Given the description of an element on the screen output the (x, y) to click on. 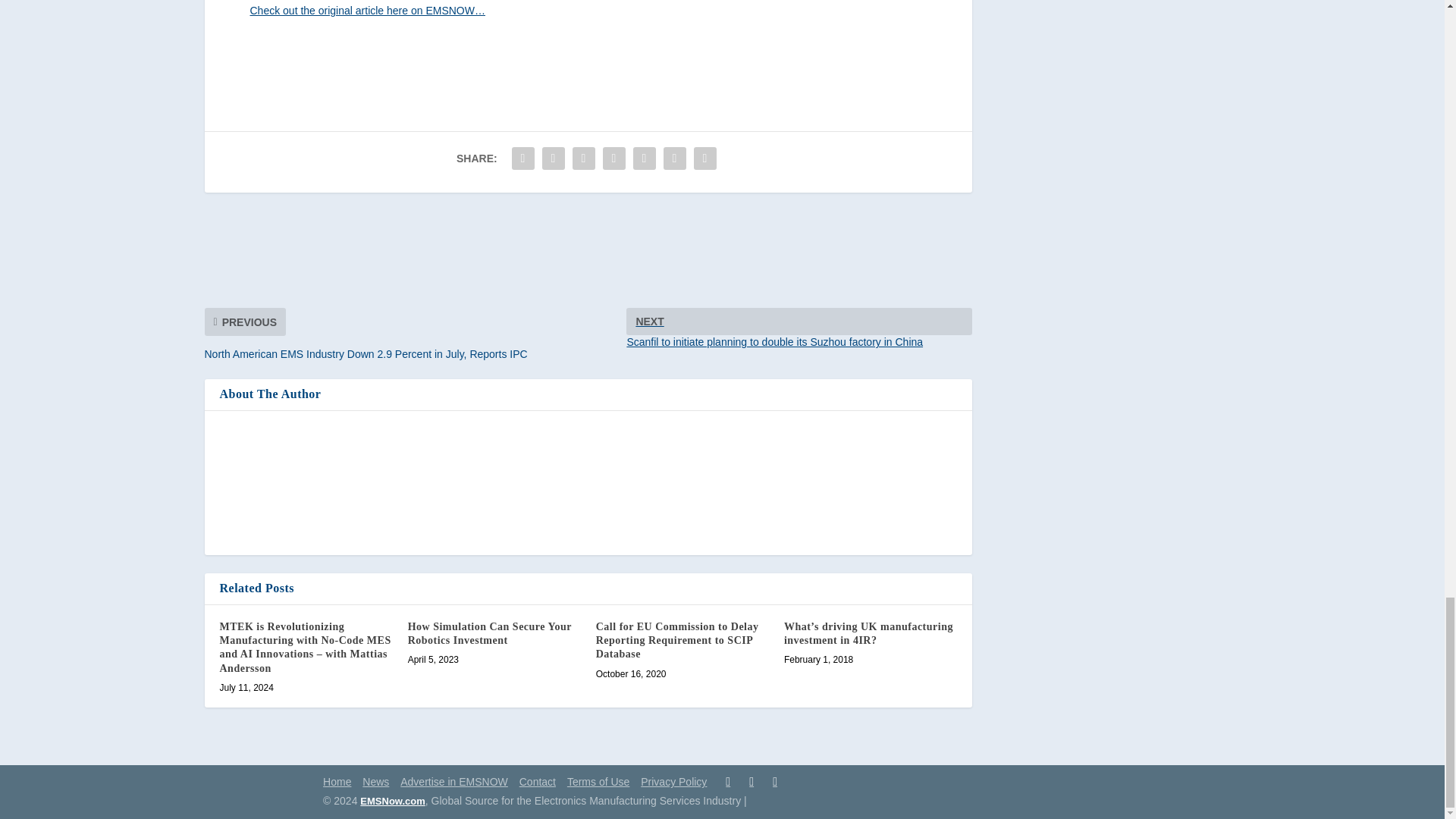
How Simulation Can Secure Your Robotics Investment (489, 633)
